Given the description of an element on the screen output the (x, y) to click on. 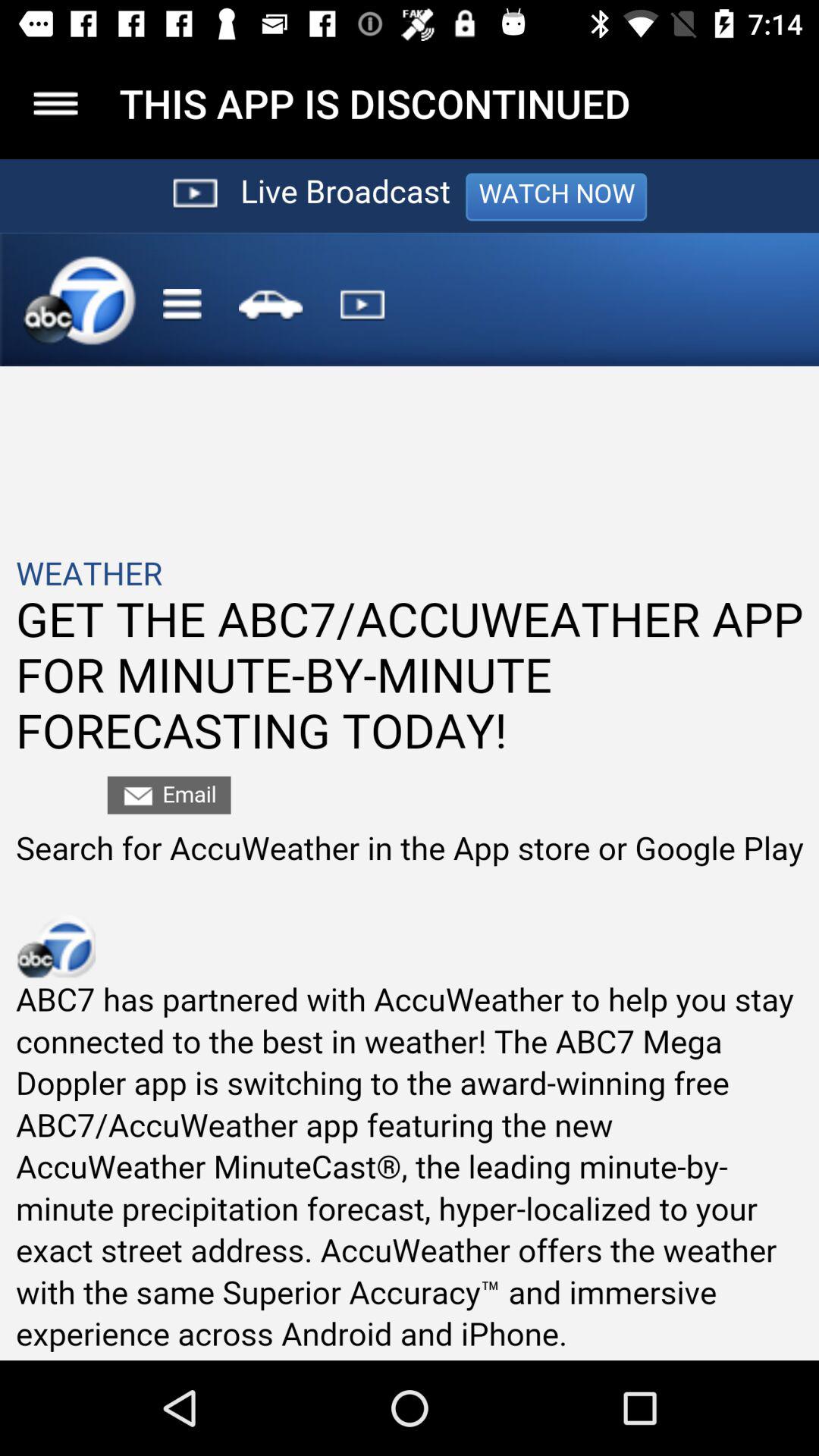
open menu (55, 103)
